Given the description of an element on the screen output the (x, y) to click on. 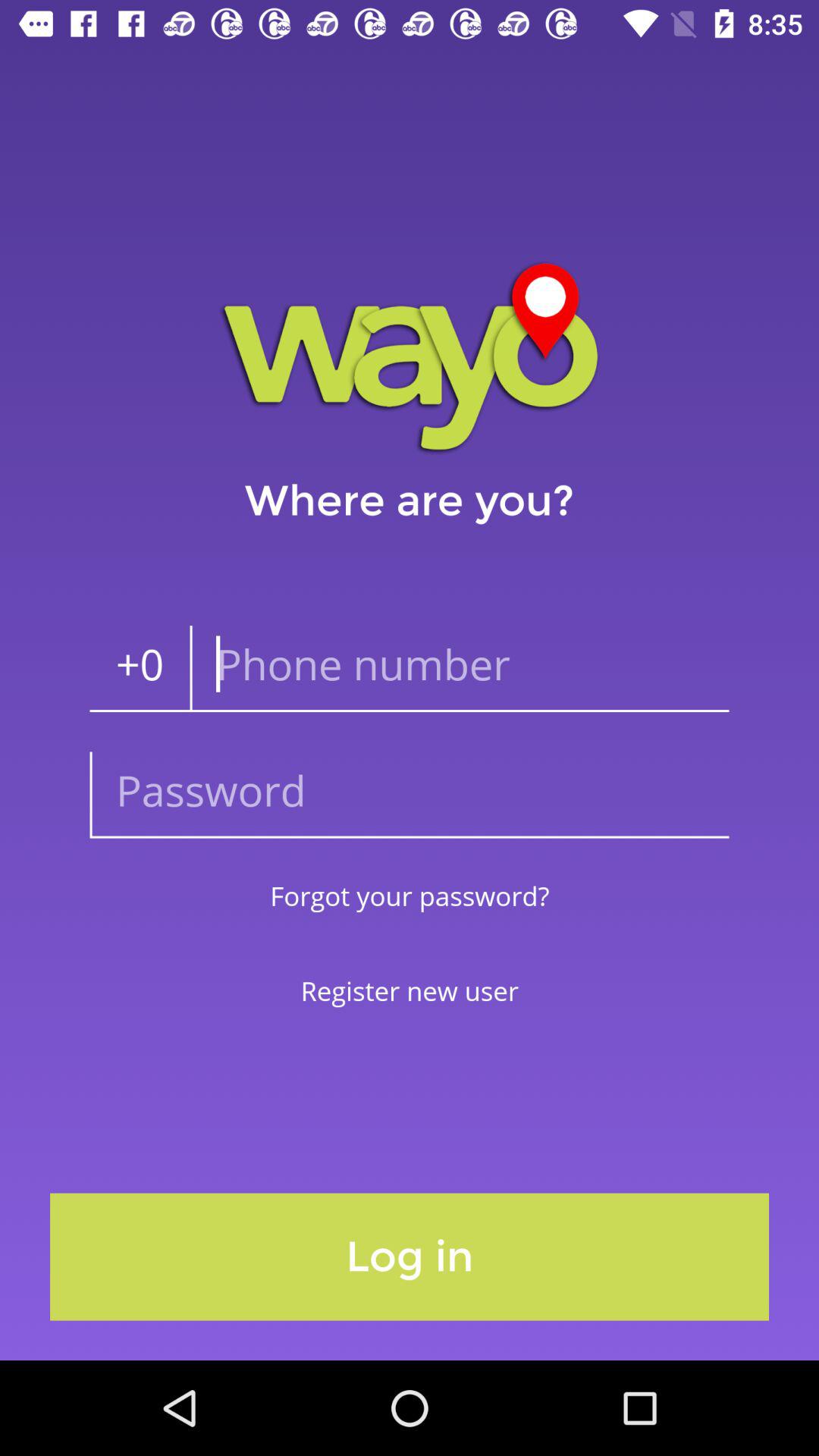
click forgot your password? (409, 895)
